Given the description of an element on the screen output the (x, y) to click on. 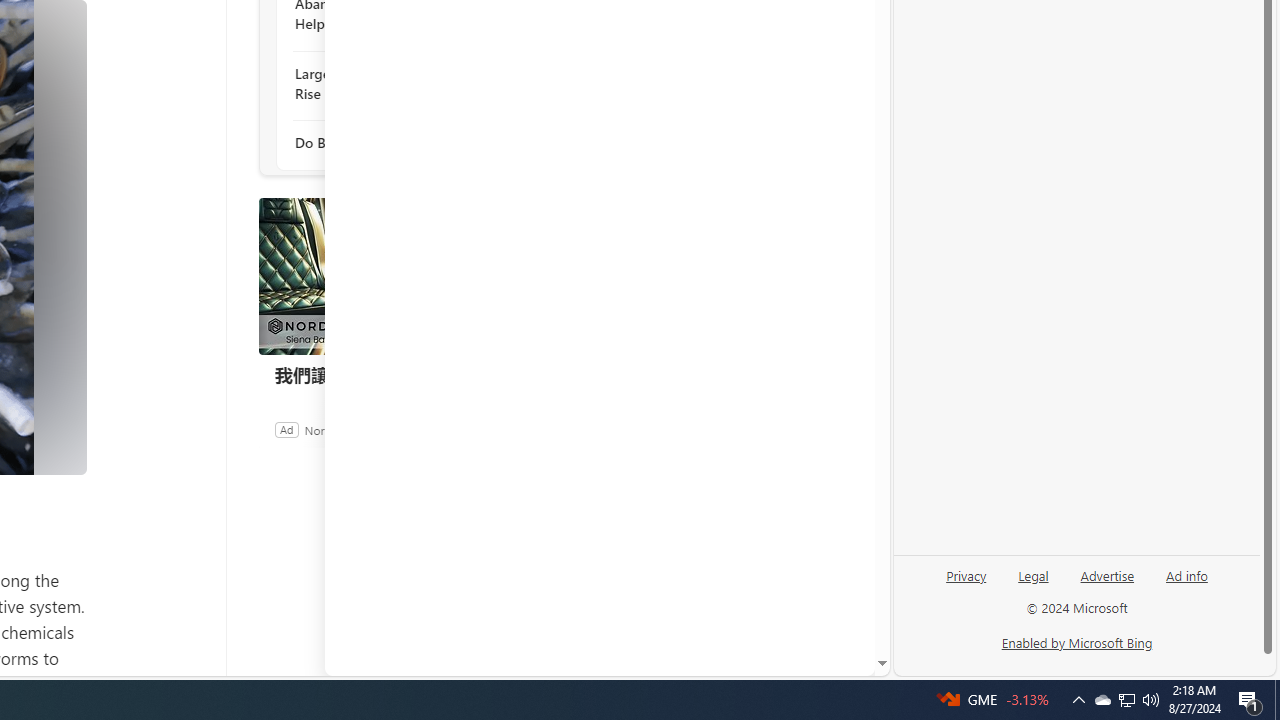
Ad info (1187, 574)
Do Bald Eagles Mate For Life? (403, 143)
